Given the description of an element on the screen output the (x, y) to click on. 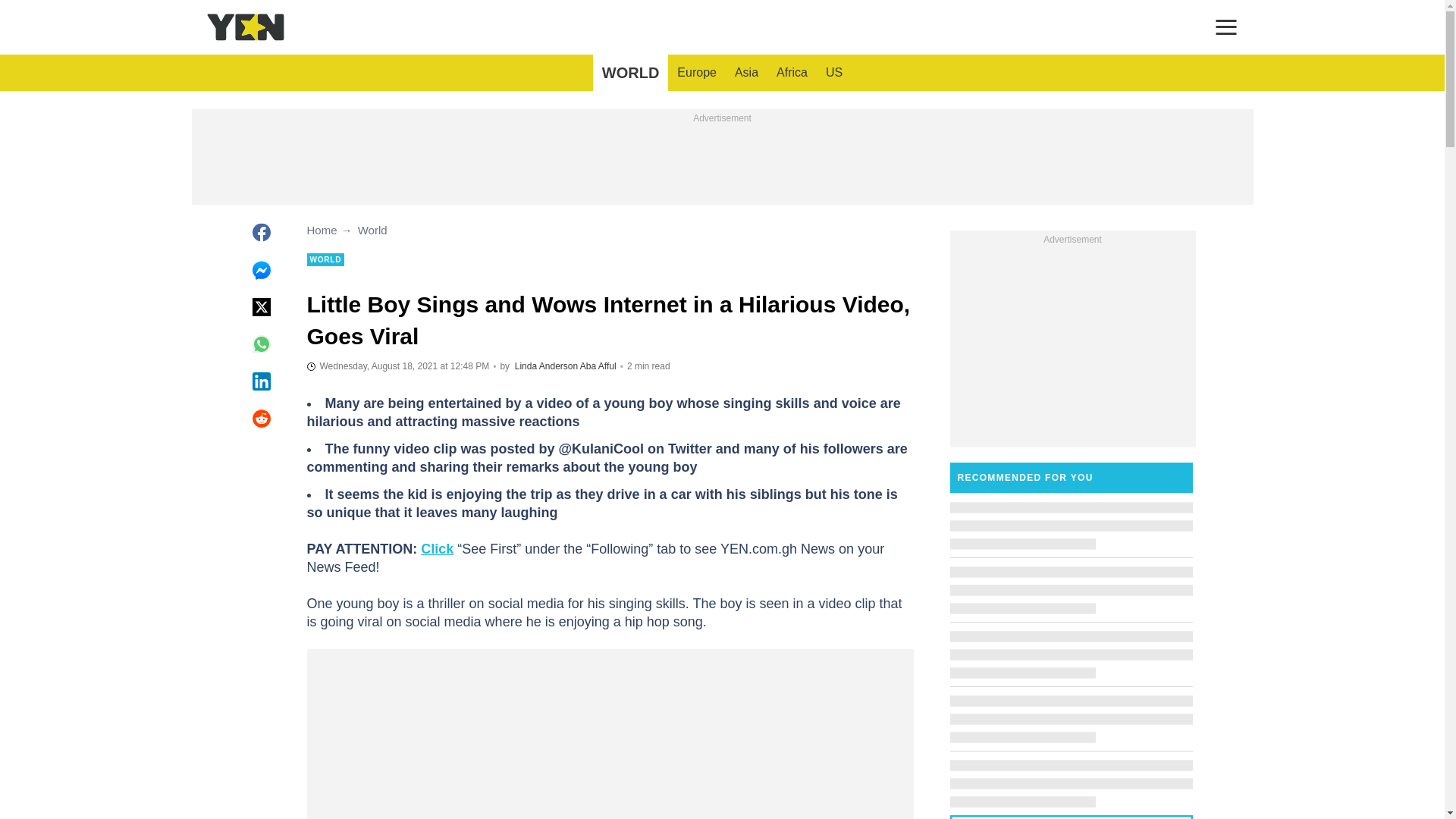
Author page (597, 366)
Africa (791, 72)
US (833, 72)
Europe (696, 72)
WORLD (630, 72)
Author page (546, 366)
Asia (746, 72)
2021-08-18T12:48:01Z (397, 366)
